Given the description of an element on the screen output the (x, y) to click on. 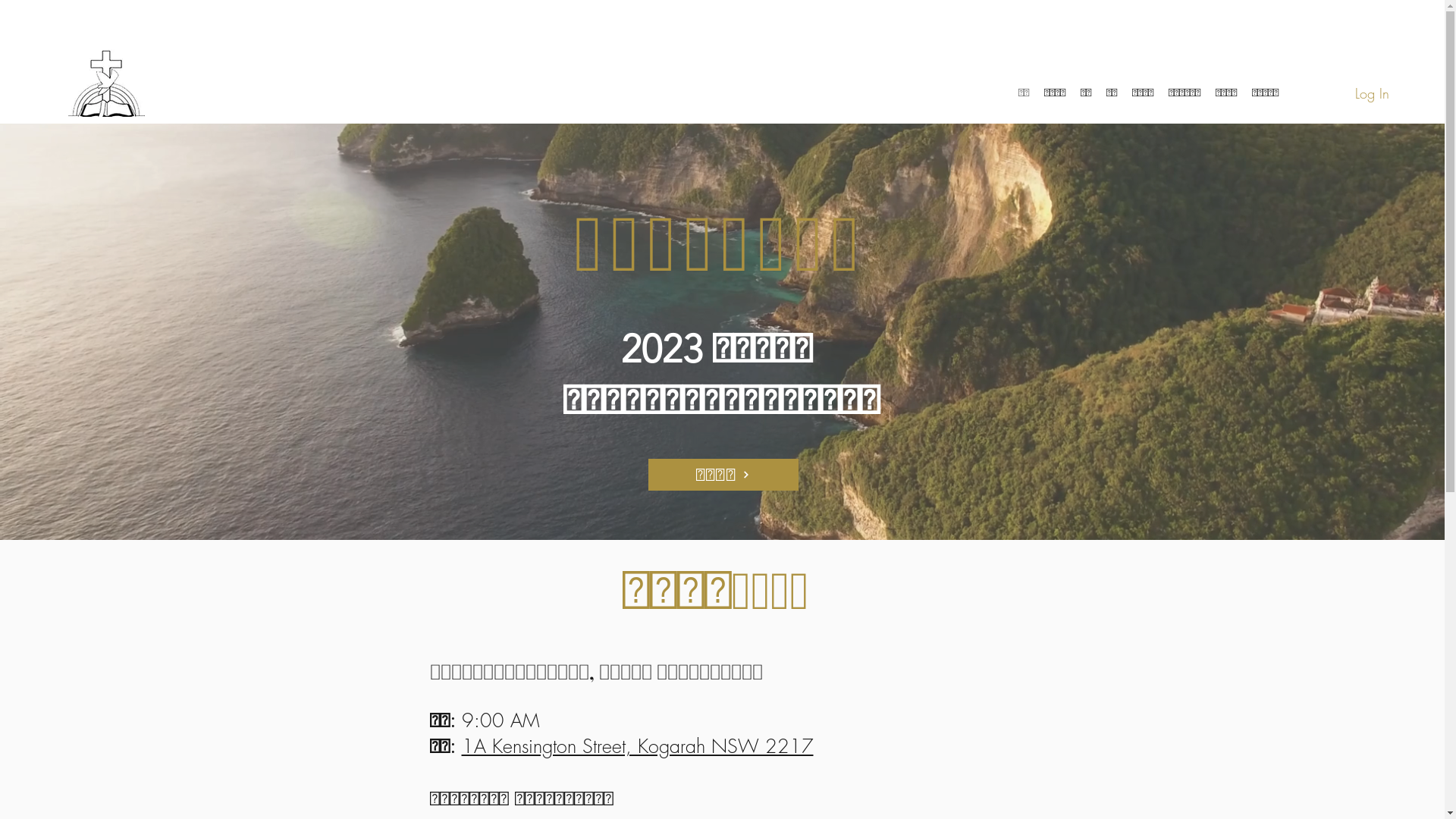
1A Kensington Street, Kogarah NSW 2217 Element type: text (636, 746)
Log In Element type: text (1371, 93)
